Given the description of an element on the screen output the (x, y) to click on. 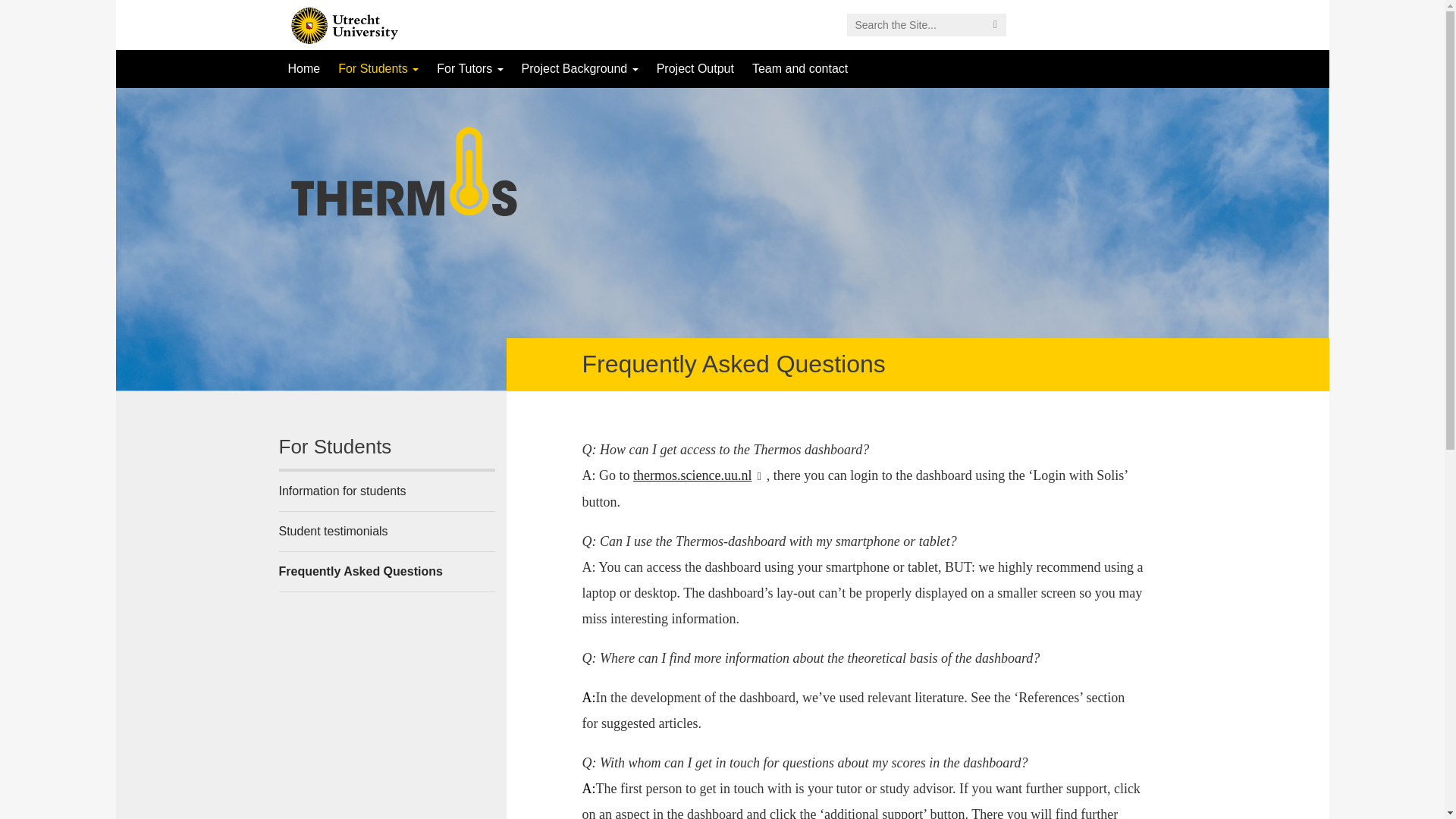
Frequently Asked Questions (387, 571)
Information for students (387, 491)
Project Background (579, 68)
Project Background (579, 68)
Team and contact (799, 68)
For Tutors (470, 68)
Project Output (694, 68)
Student testimonials (387, 531)
Home (304, 68)
Home (304, 68)
